Given the description of an element on the screen output the (x, y) to click on. 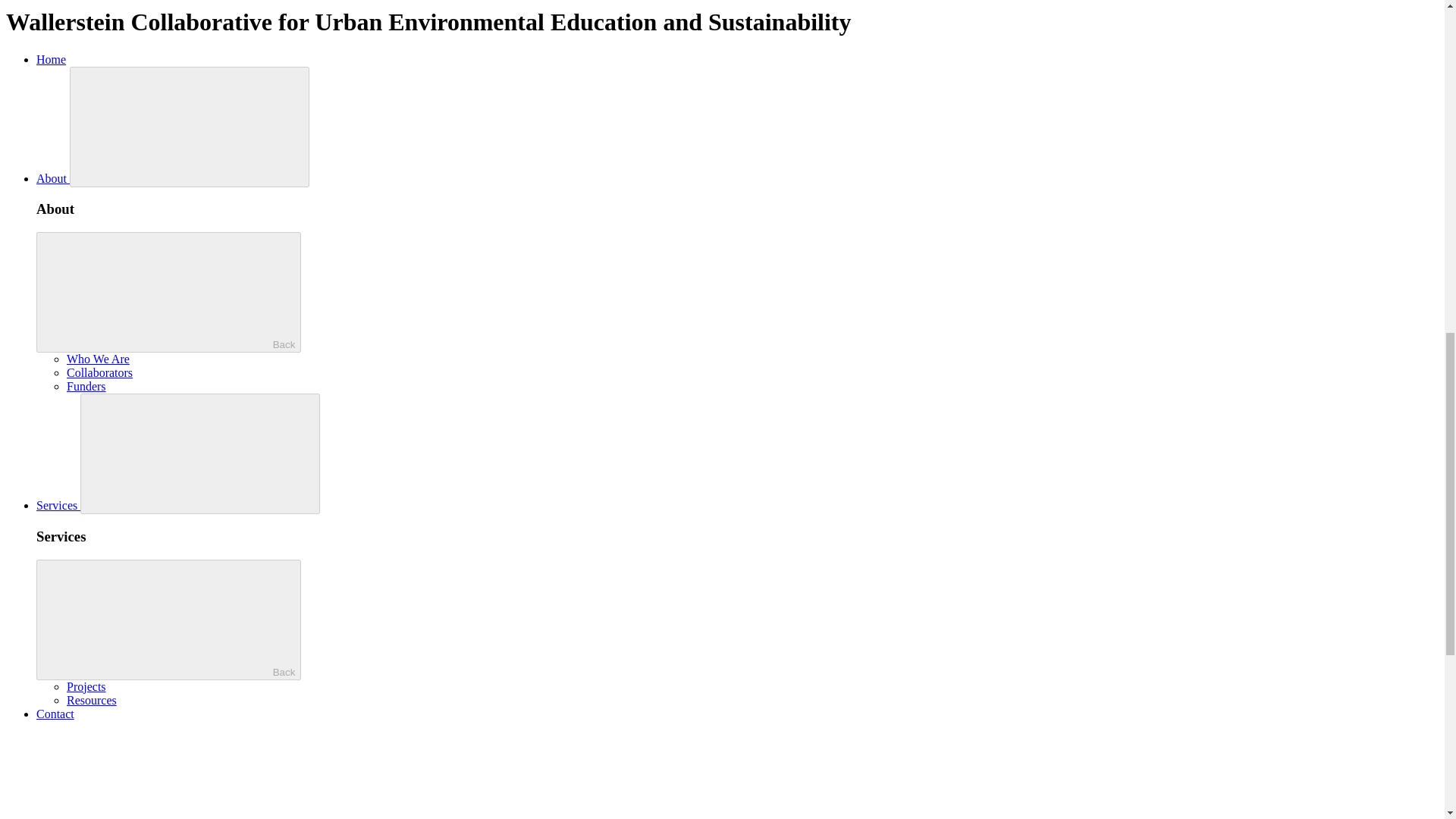
Who We Are (97, 358)
Services (58, 504)
Home (50, 59)
Funders (86, 386)
Projects (86, 686)
Resources (91, 699)
services (200, 453)
Back (168, 291)
About (52, 178)
about (188, 126)
